Given the description of an element on the screen output the (x, y) to click on. 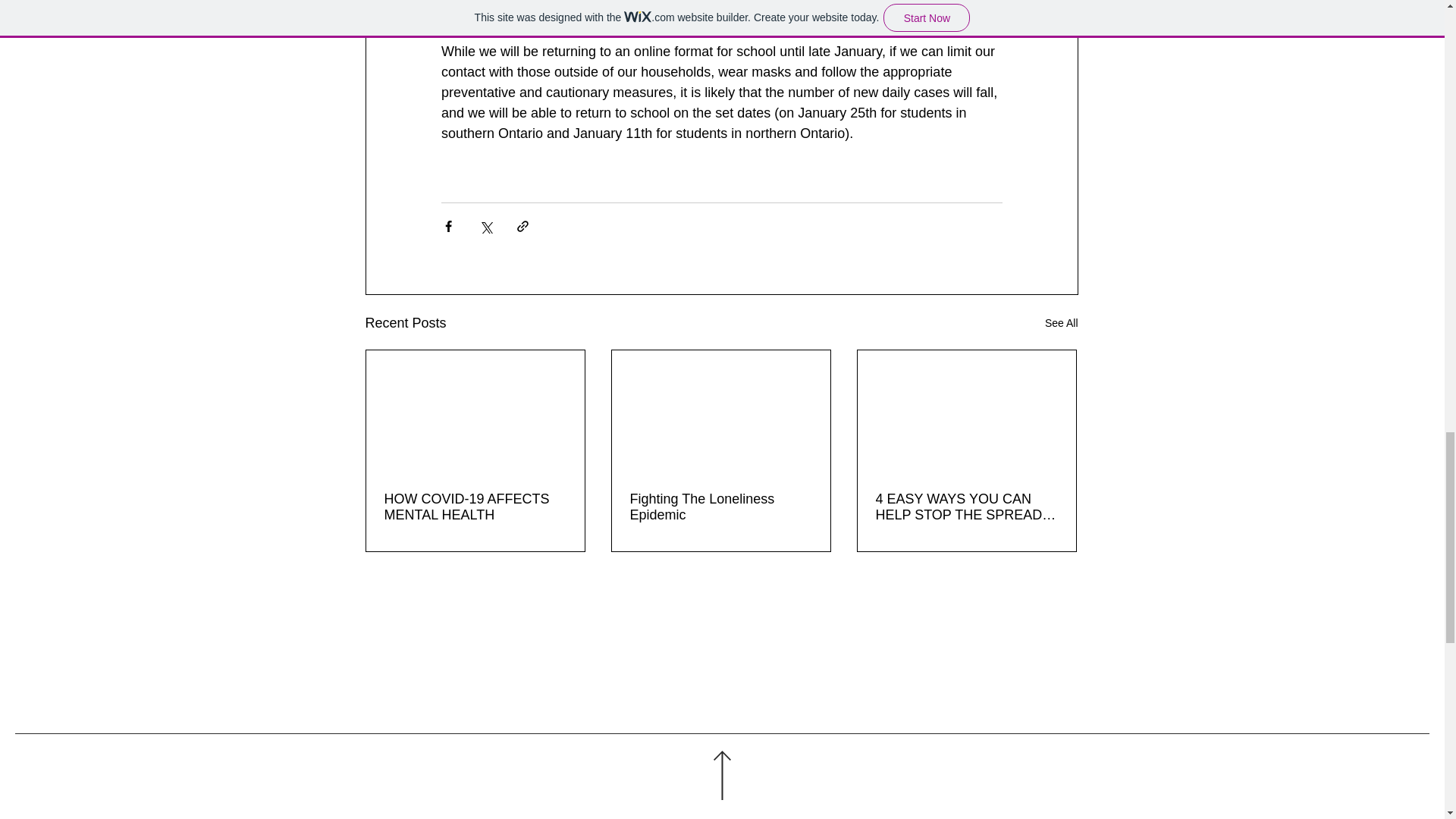
See All (1061, 323)
Fighting The Loneliness Epidemic (719, 507)
HOW COVID-19 AFFECTS MENTAL HEALTH (475, 507)
